Given the description of an element on the screen output the (x, y) to click on. 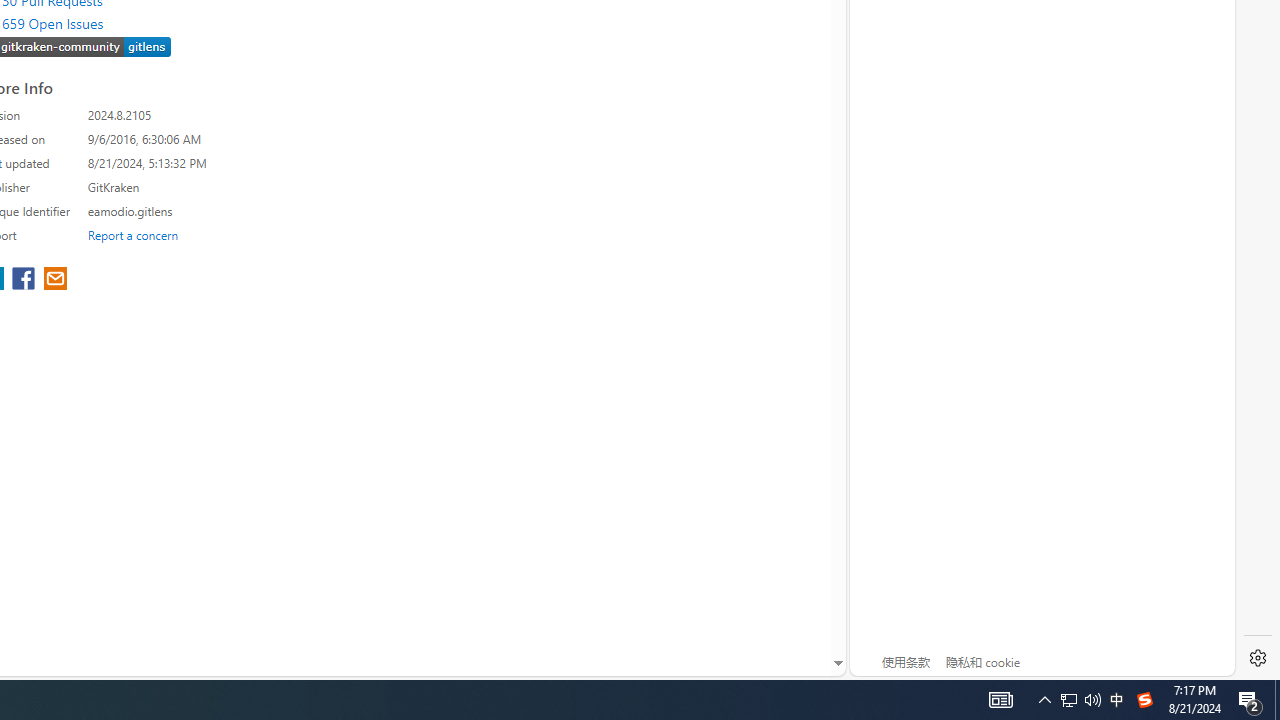
Q2790: 100% (1092, 699)
Action Center, 2 new notifications (1250, 699)
Show desktop (1277, 699)
User Promoted Notification Area (1080, 699)
AutomationID: 4105 (1000, 699)
Notification Chevron (1044, 699)
Tray Input Indicator - Chinese (Simplified, China) (1069, 699)
